Given the description of an element on the screen output the (x, y) to click on. 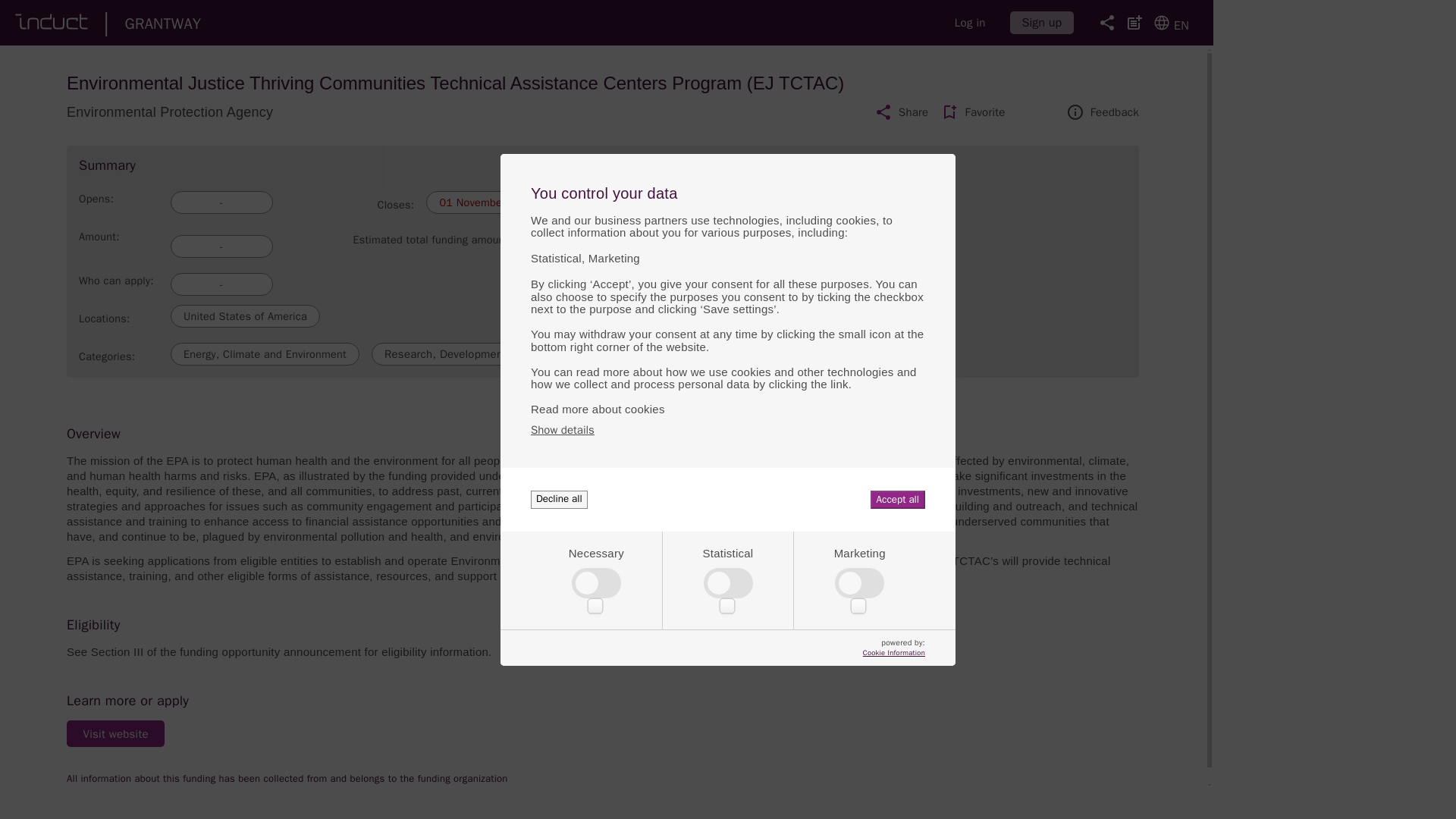
Show details (562, 430)
on (724, 603)
on (592, 603)
on (856, 603)
Read more about cookies (727, 408)
